Given the description of an element on the screen output the (x, y) to click on. 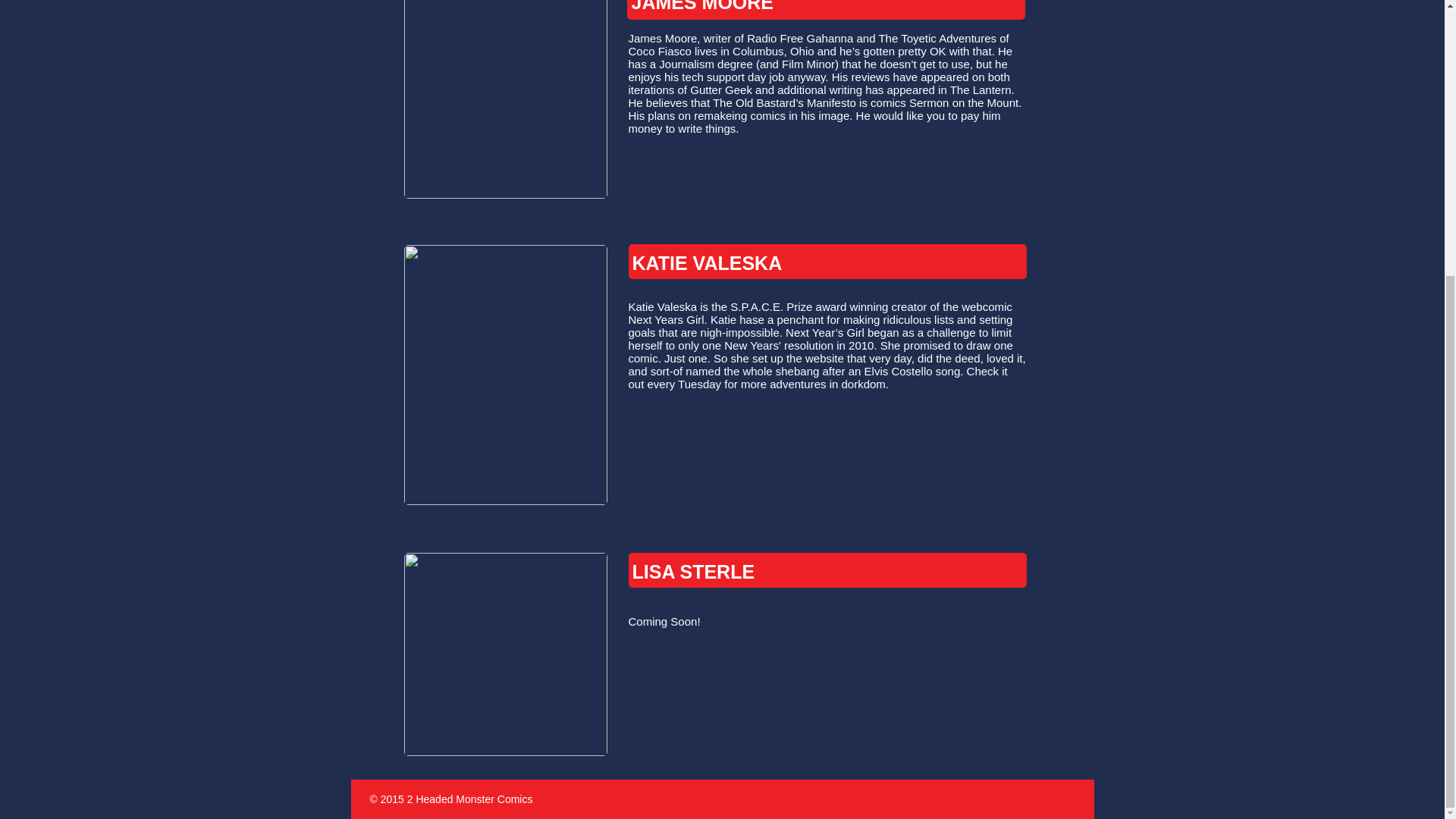
james moore headshotsm.jpg (505, 99)
